Given the description of an element on the screen output the (x, y) to click on. 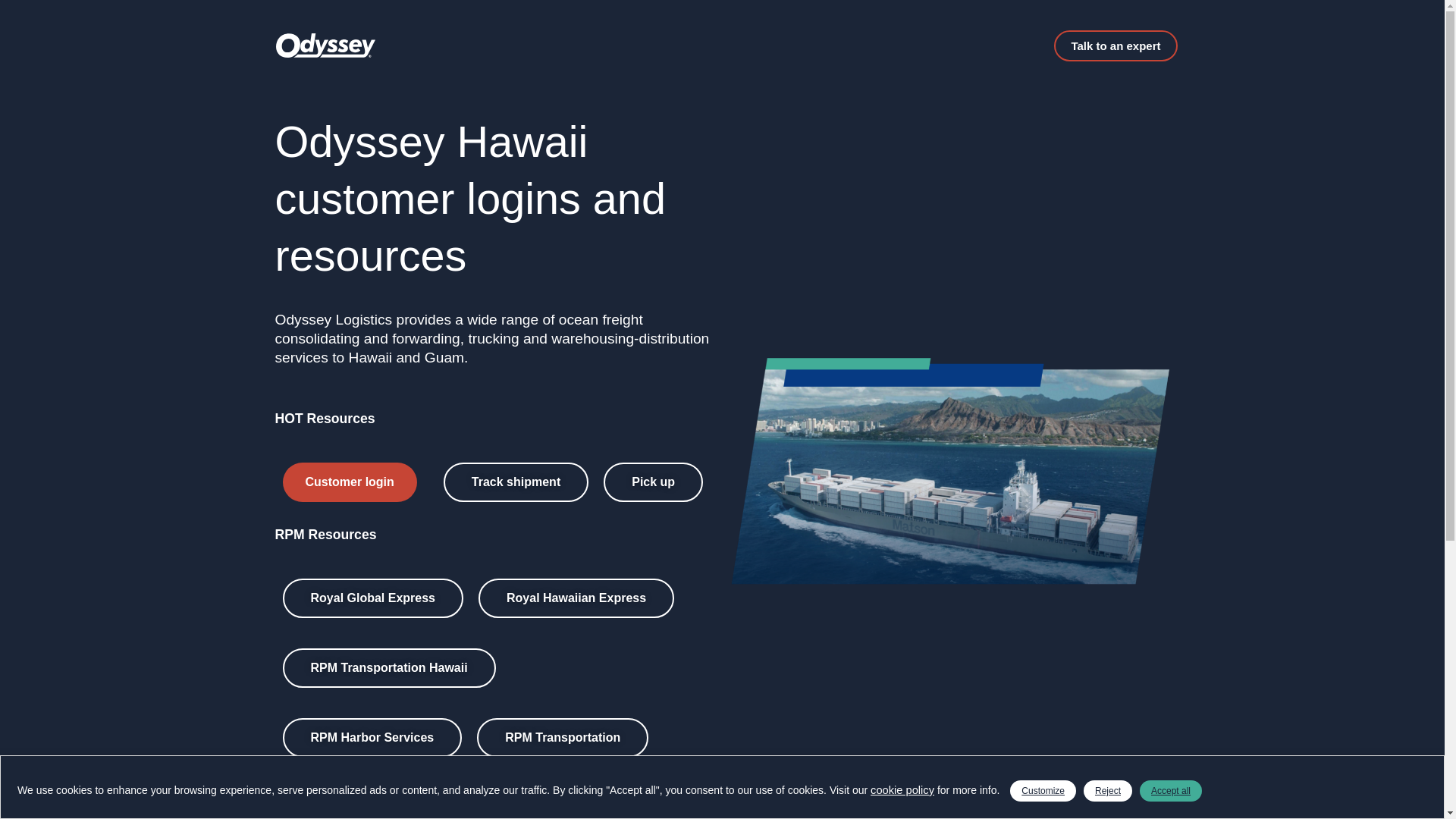
Royal Hawaiian Express (576, 598)
RPM Transportation Hawaii (388, 667)
Royal Global Express (372, 598)
Talk to an expert (1115, 45)
Track shipment (516, 482)
RPM Harbor Services (371, 737)
Pick up (653, 482)
RPM Transportation (562, 737)
Customer login (349, 482)
Go to odysseylogistics.com (371, 807)
